Given the description of an element on the screen output the (x, y) to click on. 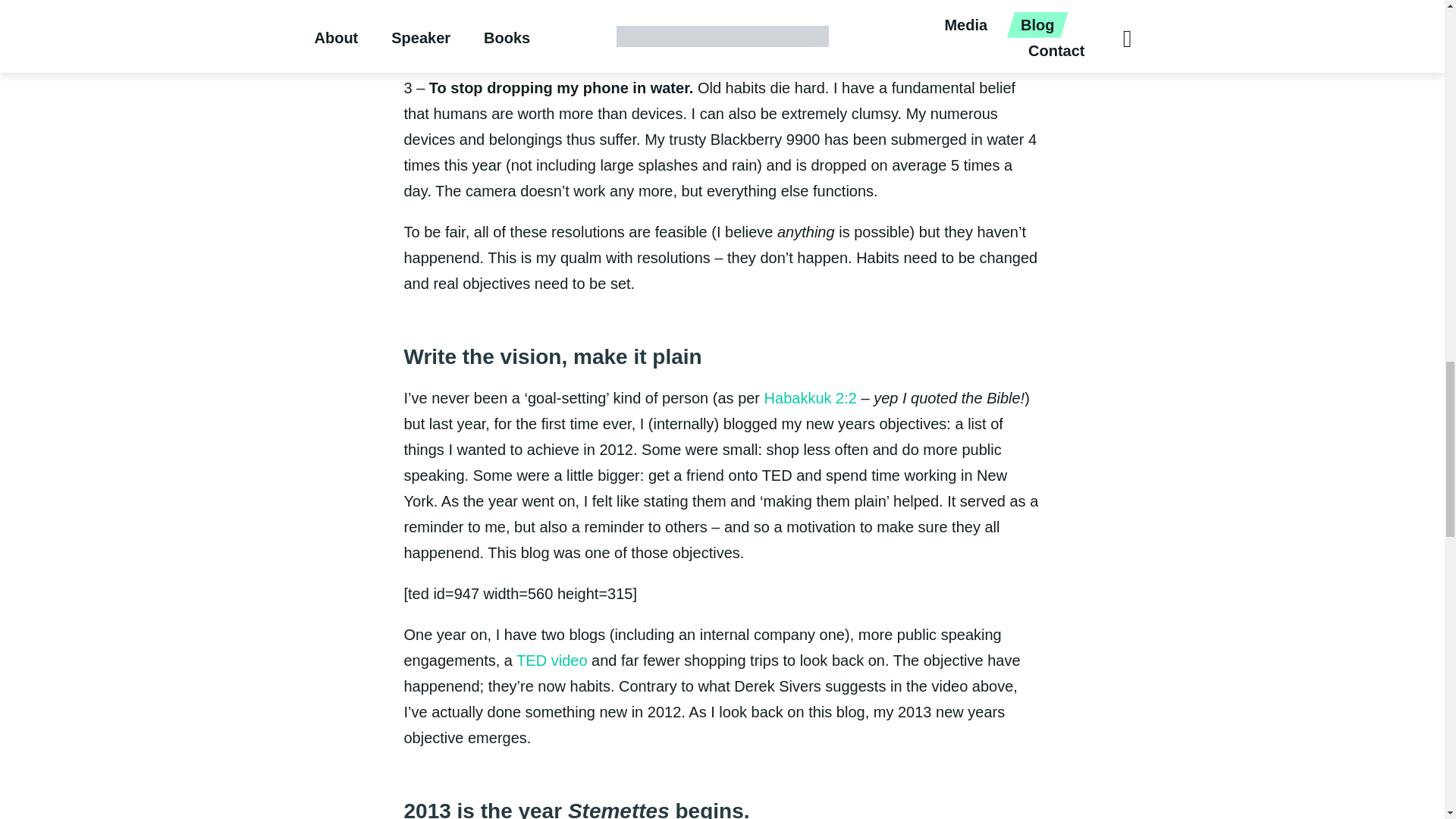
Habakkuk 2:2 English Standard Version (810, 397)
Andy Stanford-Clark on TED (551, 660)
Habakkuk 2:2 (810, 397)
TED video (551, 660)
